Given the description of an element on the screen output the (x, y) to click on. 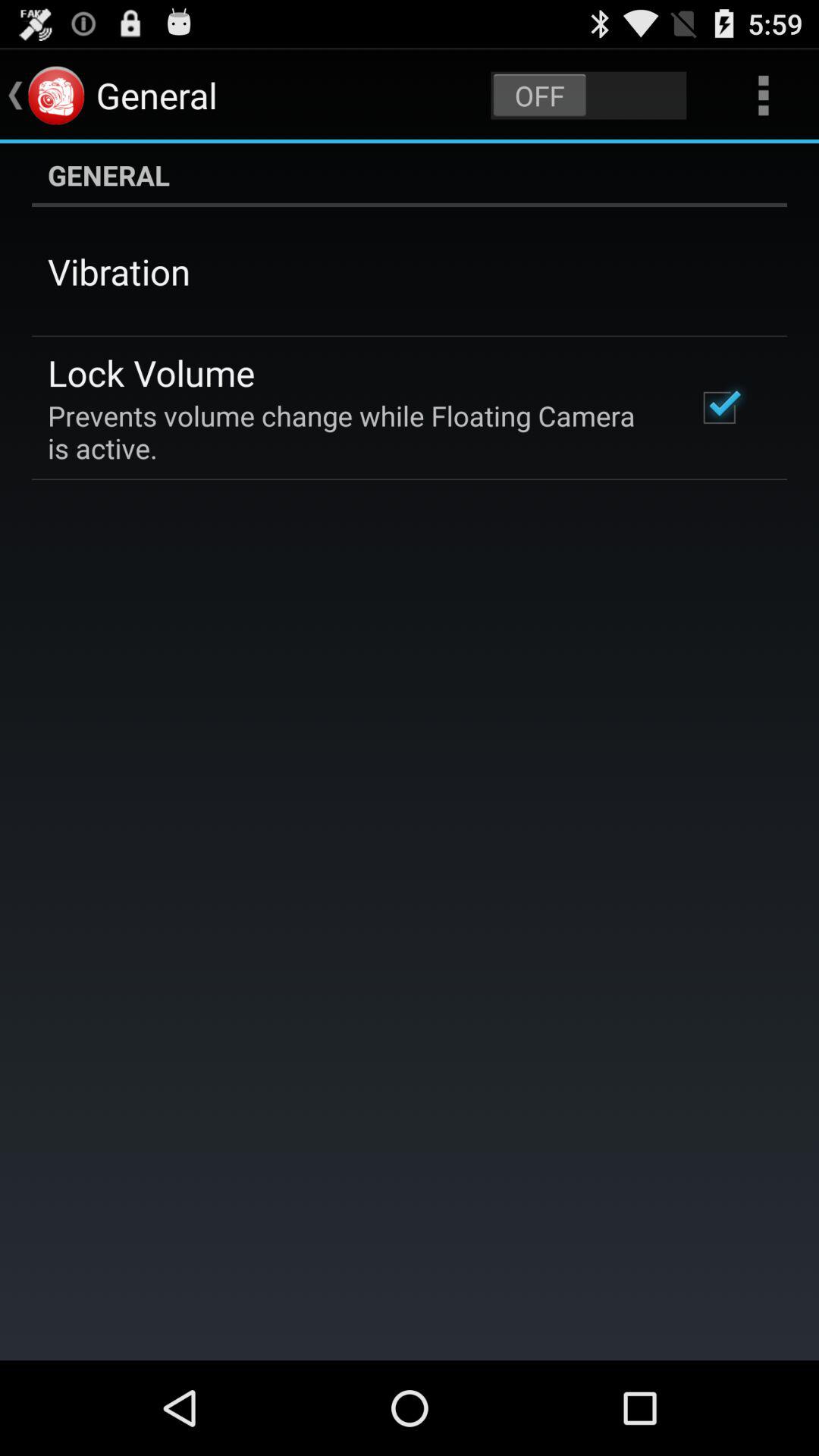
turn off the item above general icon (588, 95)
